Given the description of an element on the screen output the (x, y) to click on. 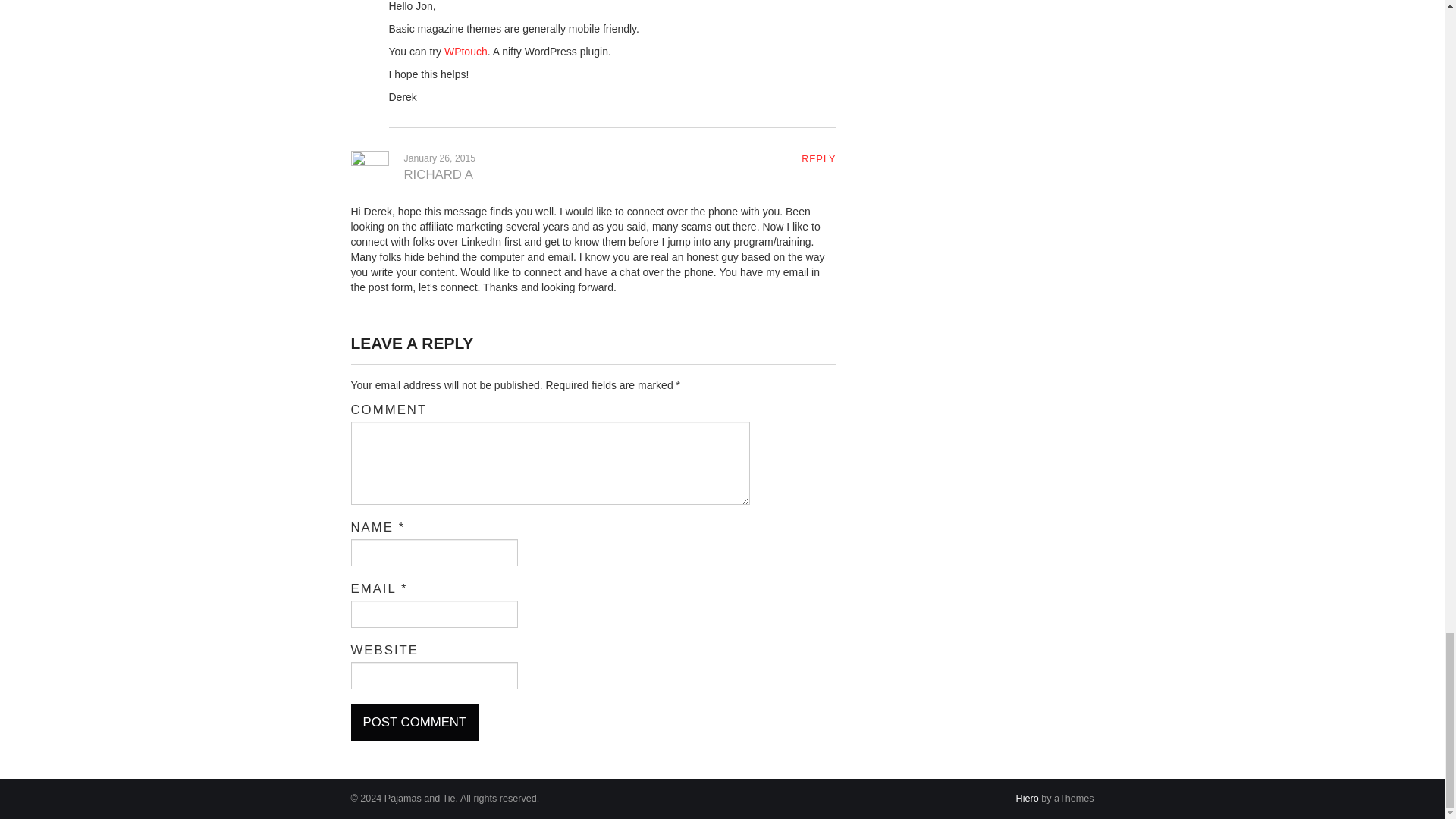
WPtouch (465, 51)
Post Comment (414, 722)
